Given the description of an element on the screen output the (x, y) to click on. 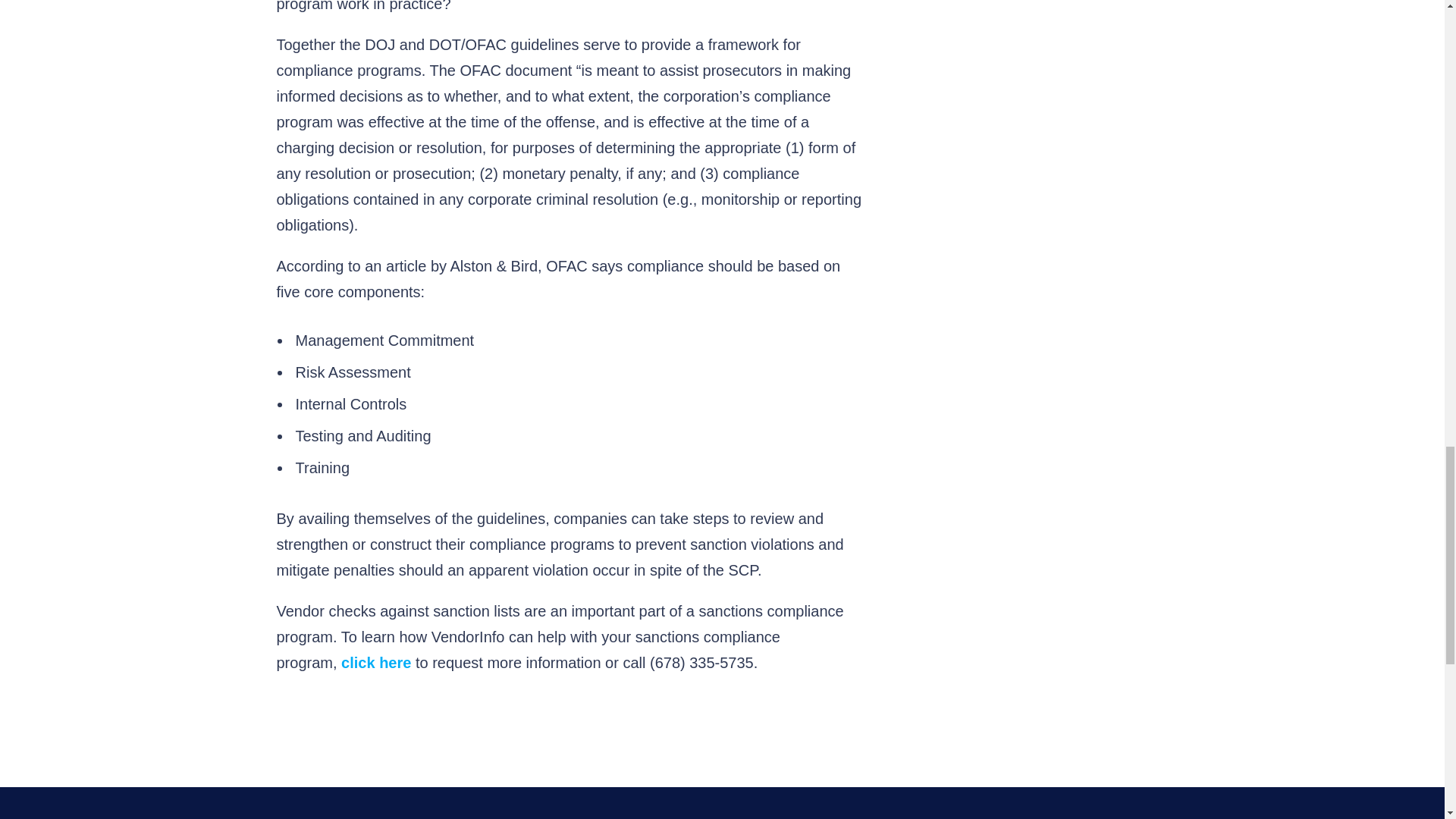
click here (375, 662)
